Given the description of an element on the screen output the (x, y) to click on. 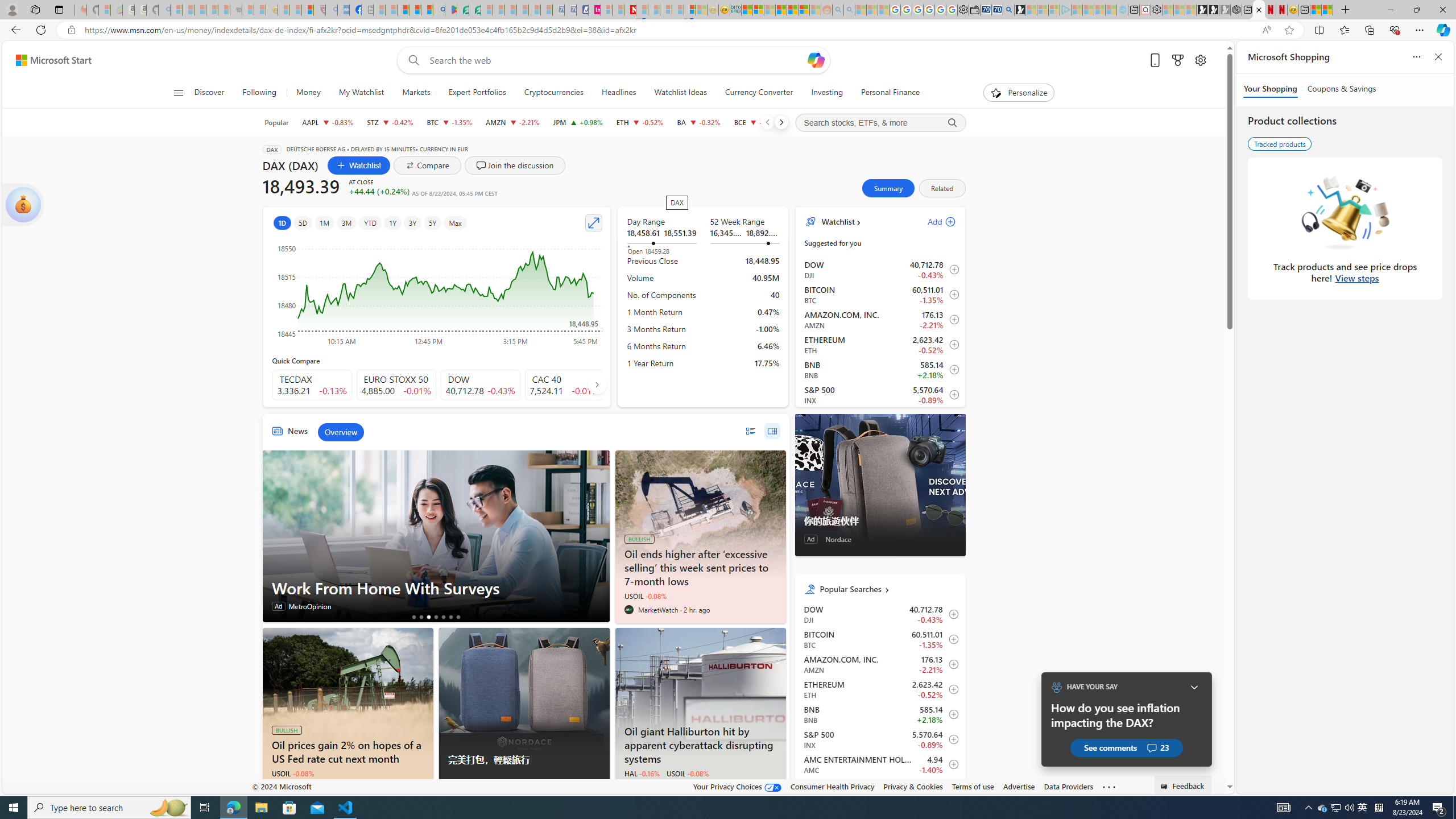
Markets (416, 92)
Add (932, 221)
DJI DOW decrease 40,712.78 -177.71 -0.43% itemundefined (879, 613)
Currency Converter (759, 92)
Watchlist Ideas (680, 92)
Investing (826, 92)
Currency Converter (758, 92)
